Given the description of an element on the screen output the (x, y) to click on. 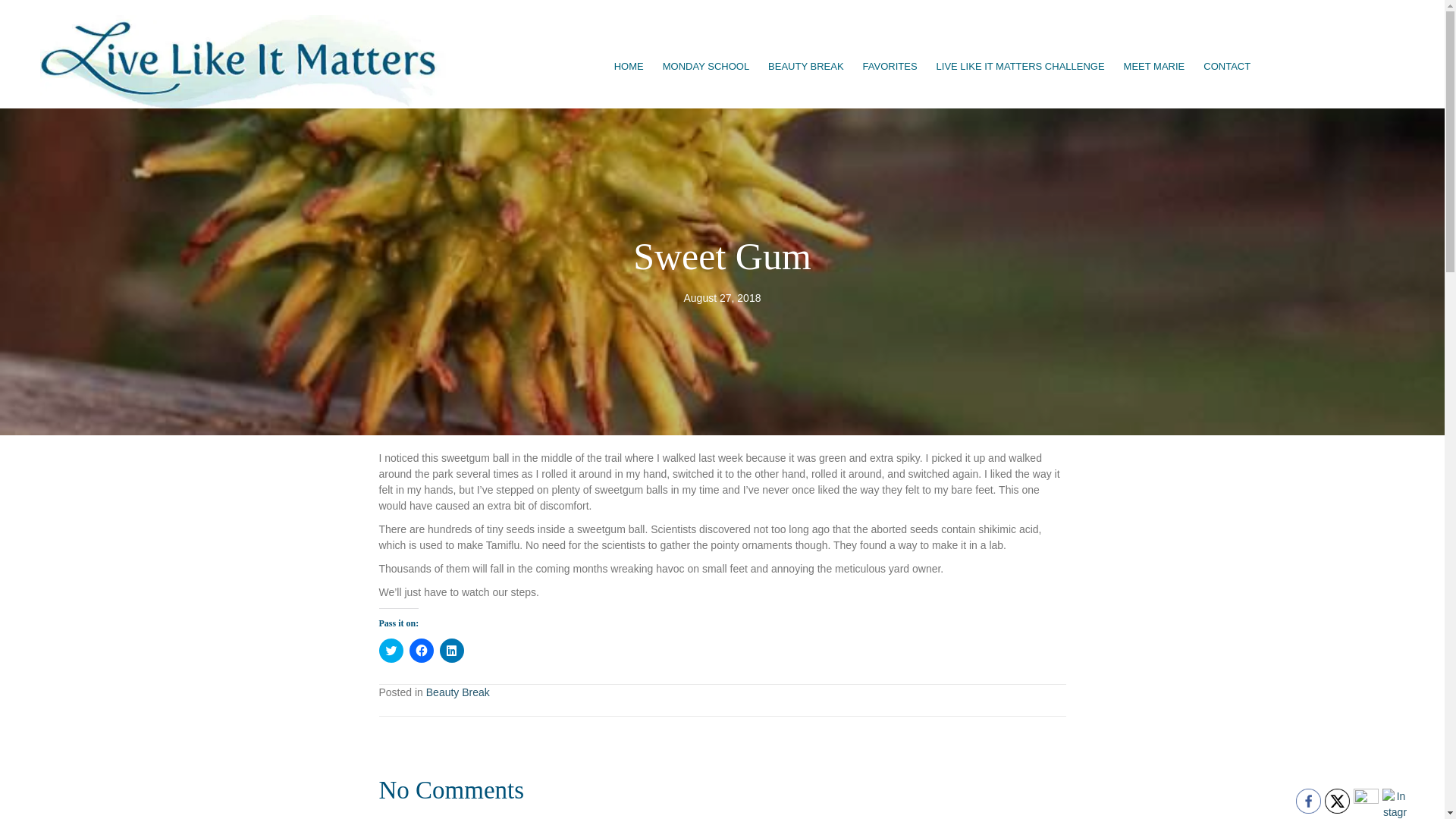
HOME (628, 66)
Click to share on Facebook (421, 650)
CONTACT (1226, 66)
Click to share on LinkedIn (451, 650)
LIVE LIKE IT MATTERS CHALLENGE (1020, 66)
FAVORITES (889, 66)
marie-logo (244, 61)
Beauty Break (457, 692)
Click to share on Twitter (390, 650)
BEAUTY BREAK (804, 66)
MEET MARIE (1154, 66)
MONDAY SCHOOL (705, 66)
